Given the description of an element on the screen output the (x, y) to click on. 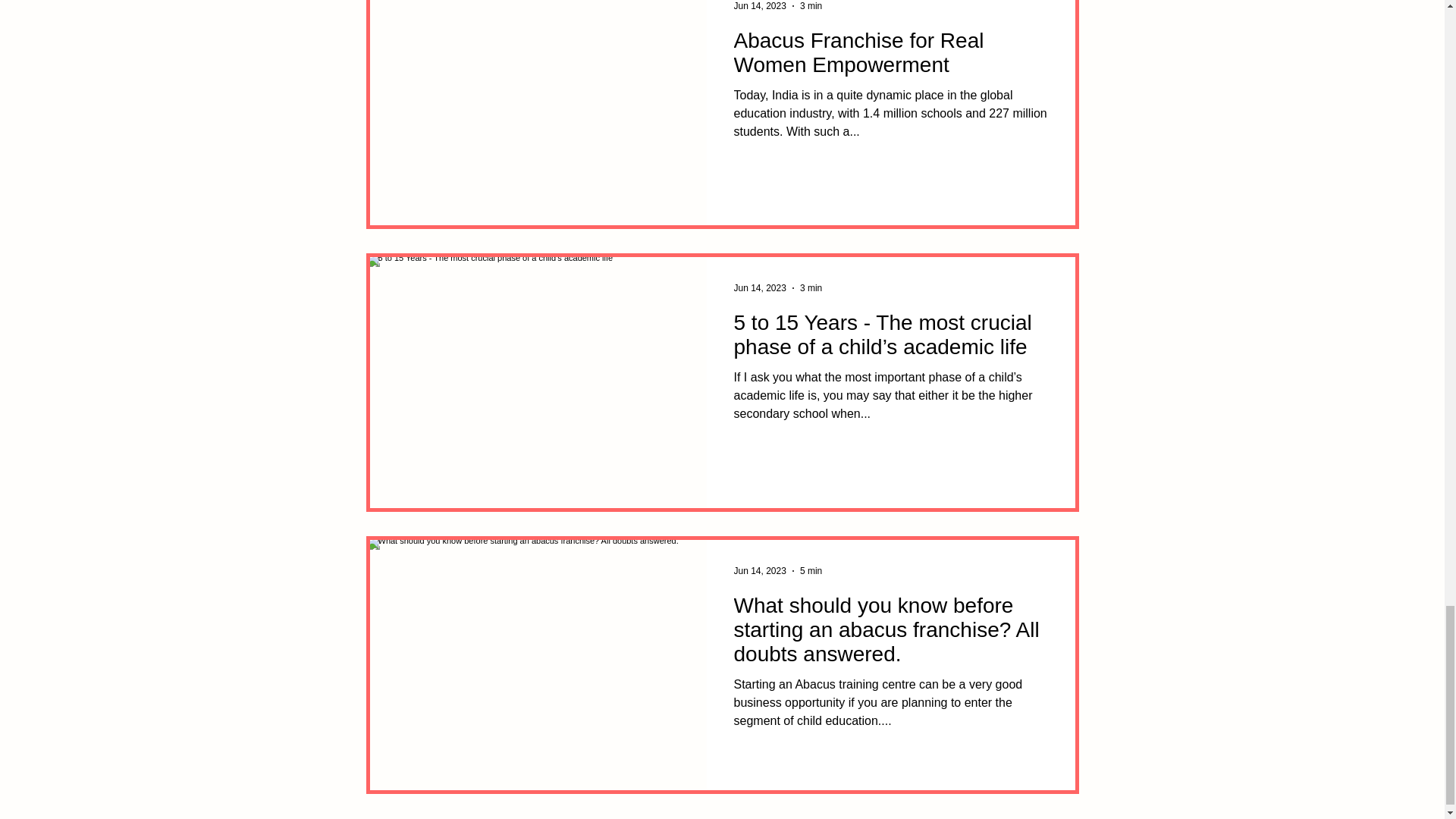
Jun 14, 2023 (759, 5)
5 min (810, 570)
Jun 14, 2023 (759, 287)
Jun 14, 2023 (759, 570)
3 min (810, 287)
3 min (810, 5)
